Given the description of an element on the screen output the (x, y) to click on. 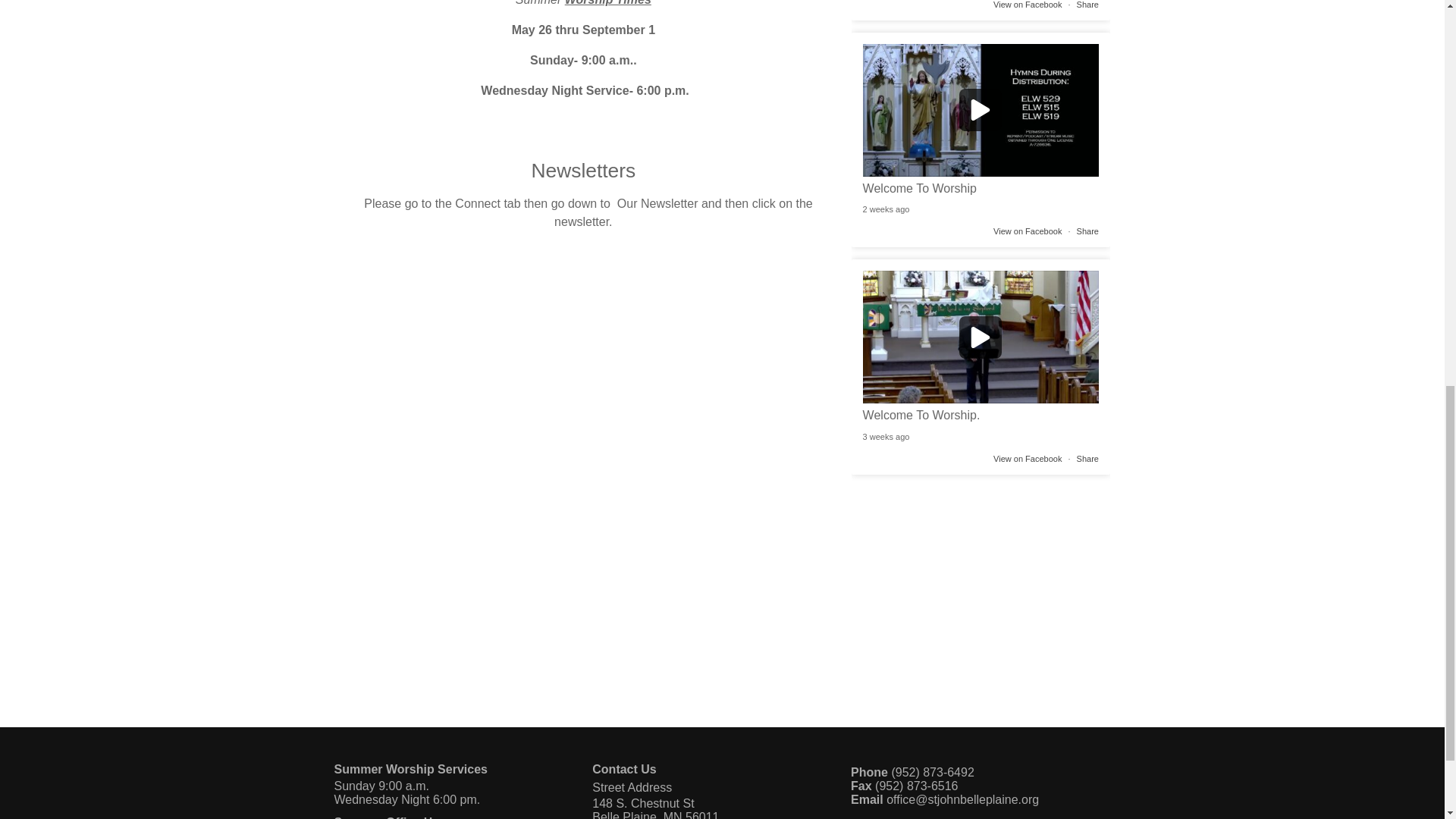
Share (1088, 230)
Play (981, 110)
Share (1088, 457)
View on Facebook (1026, 4)
View on Facebook (1026, 230)
Share (1088, 4)
Share (1088, 4)
View on Facebook (1026, 230)
View on Facebook (1026, 4)
View on Facebook (1026, 457)
Share (1088, 230)
